Given the description of an element on the screen output the (x, y) to click on. 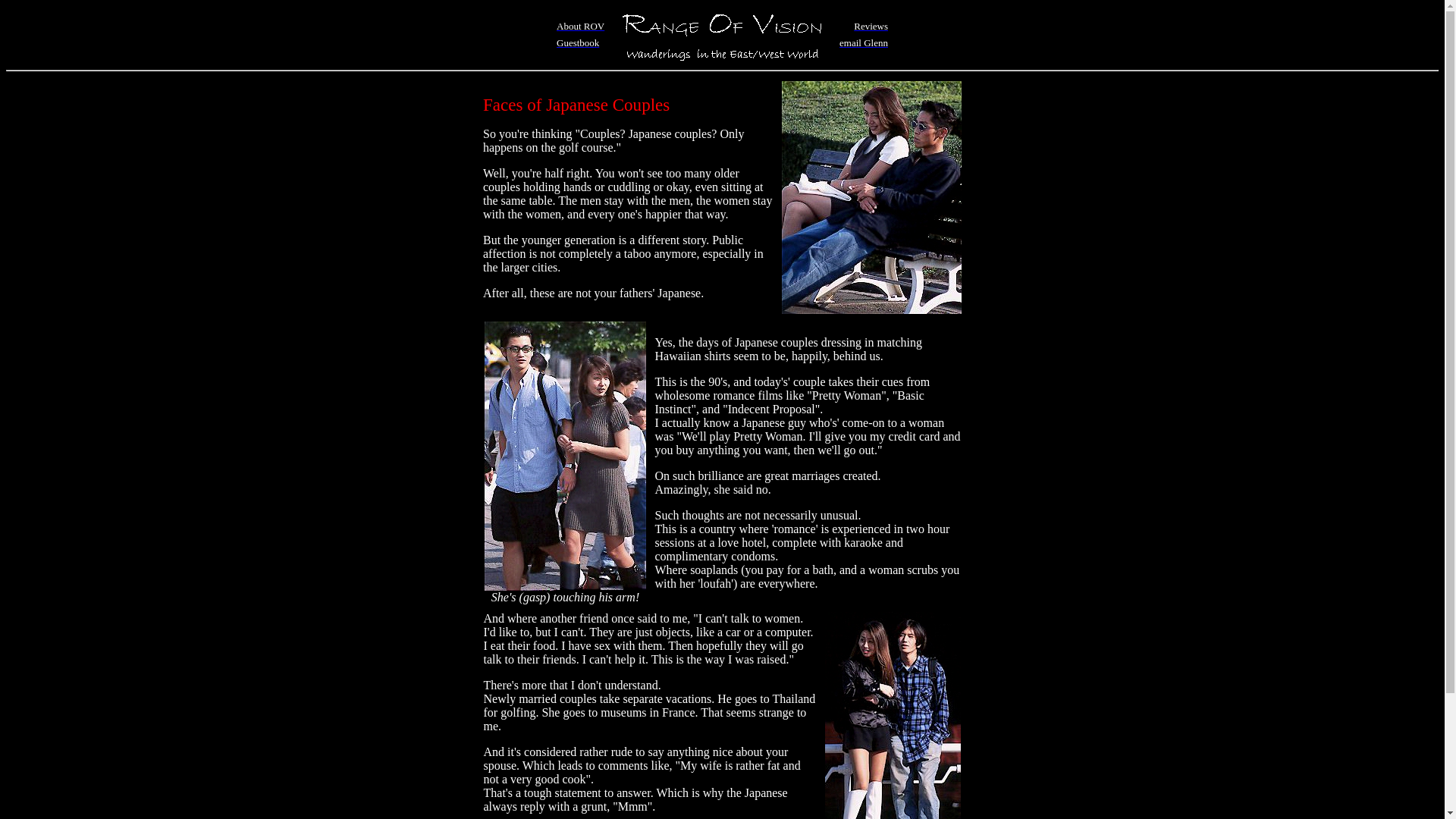
About ROV (580, 24)
Reviews (870, 24)
Guestbook (577, 42)
email Glenn (864, 42)
